Given the description of an element on the screen output the (x, y) to click on. 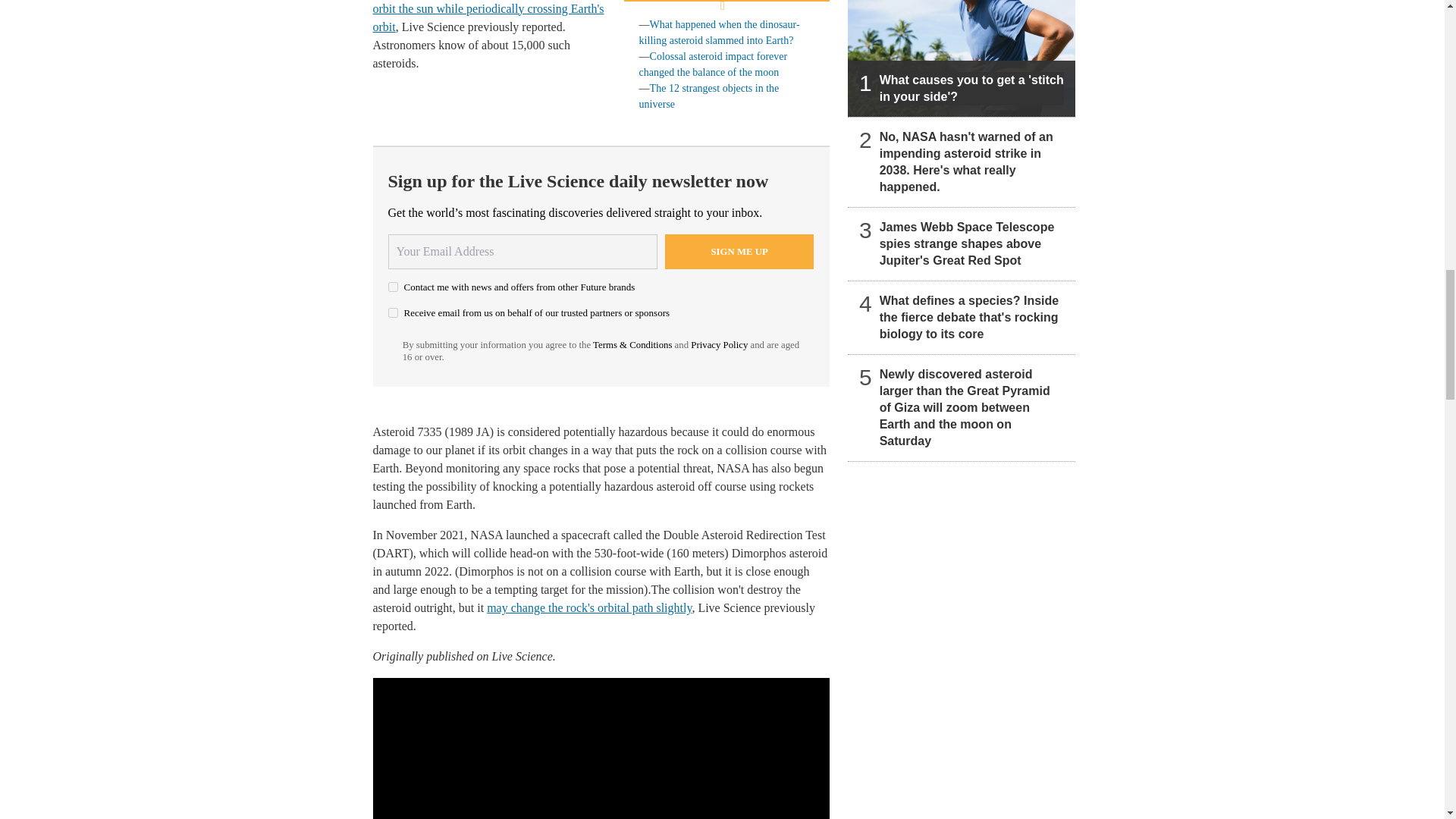
Sign me up (739, 251)
on (392, 286)
on (392, 312)
